Given the description of an element on the screen output the (x, y) to click on. 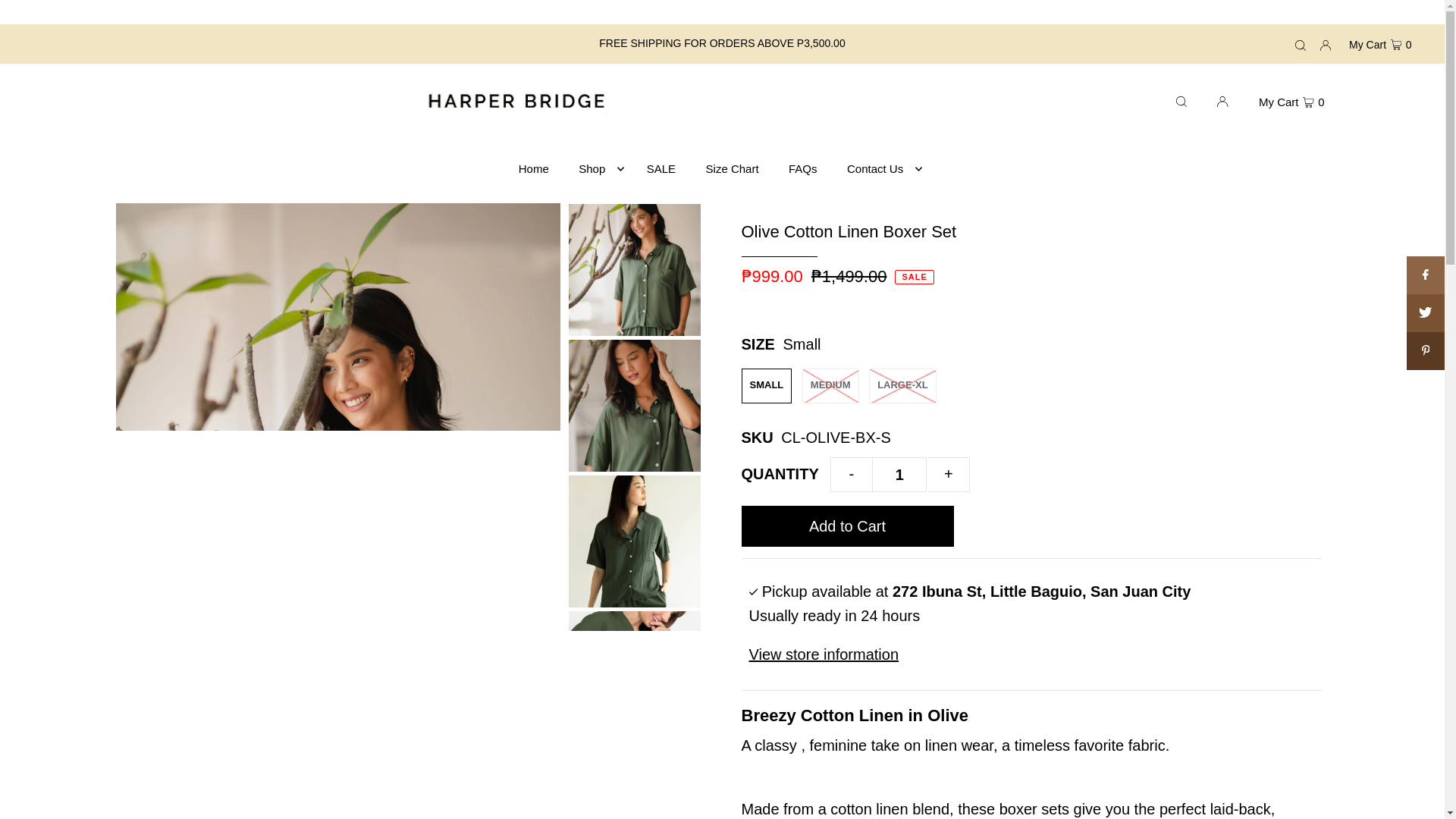
Shop (597, 168)
Add to Cart (847, 526)
SALE (660, 168)
FAQs (802, 168)
Size Chart (732, 168)
1 (899, 474)
Contact Us (880, 168)
Home (533, 168)
